Given the description of an element on the screen output the (x, y) to click on. 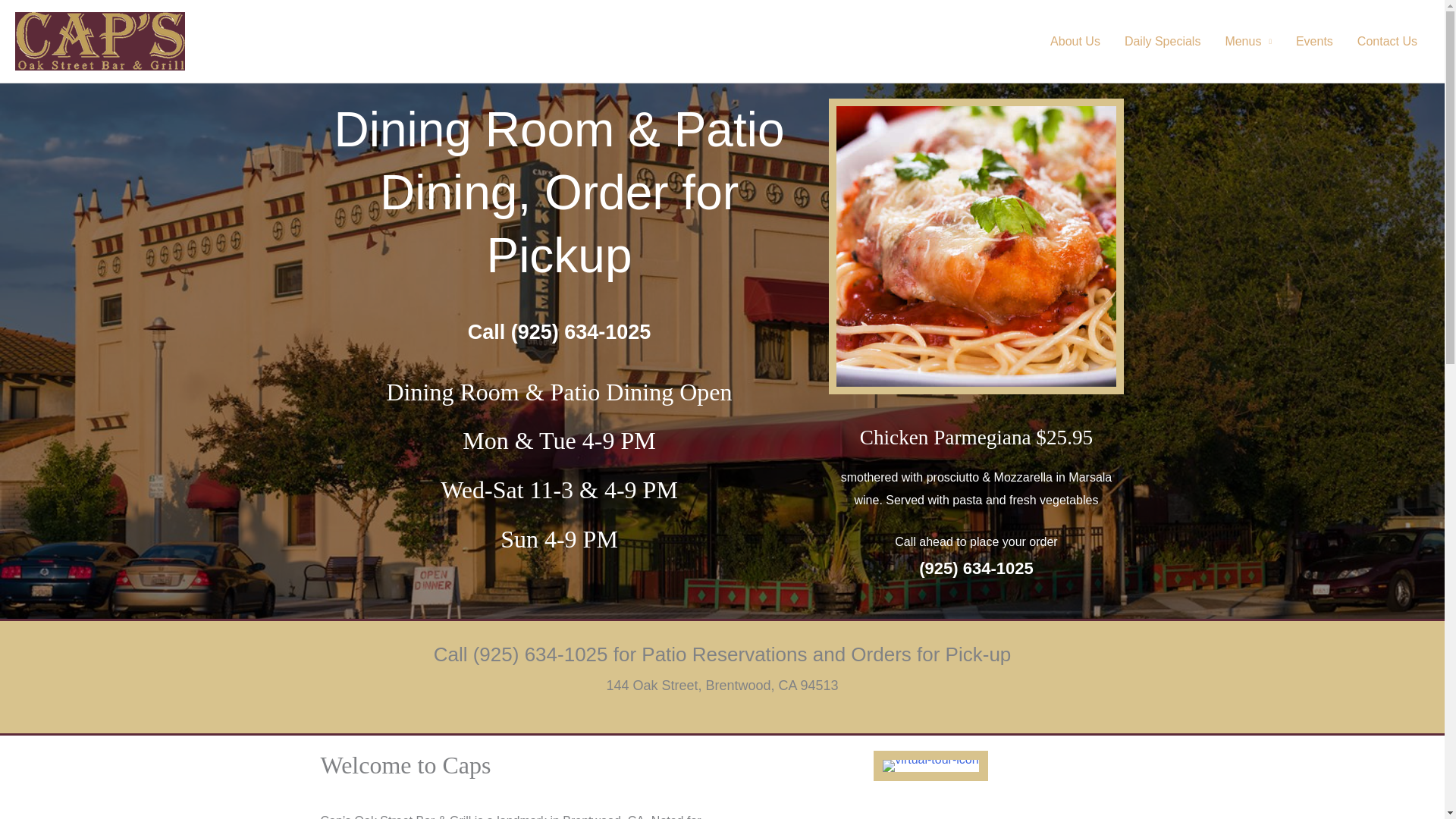
Contact Us (1387, 40)
Events (1314, 40)
virtual-tour-icon (930, 766)
About Us (1075, 40)
Daily Specials (1162, 40)
Menus (1248, 40)
